Given the description of an element on the screen output the (x, y) to click on. 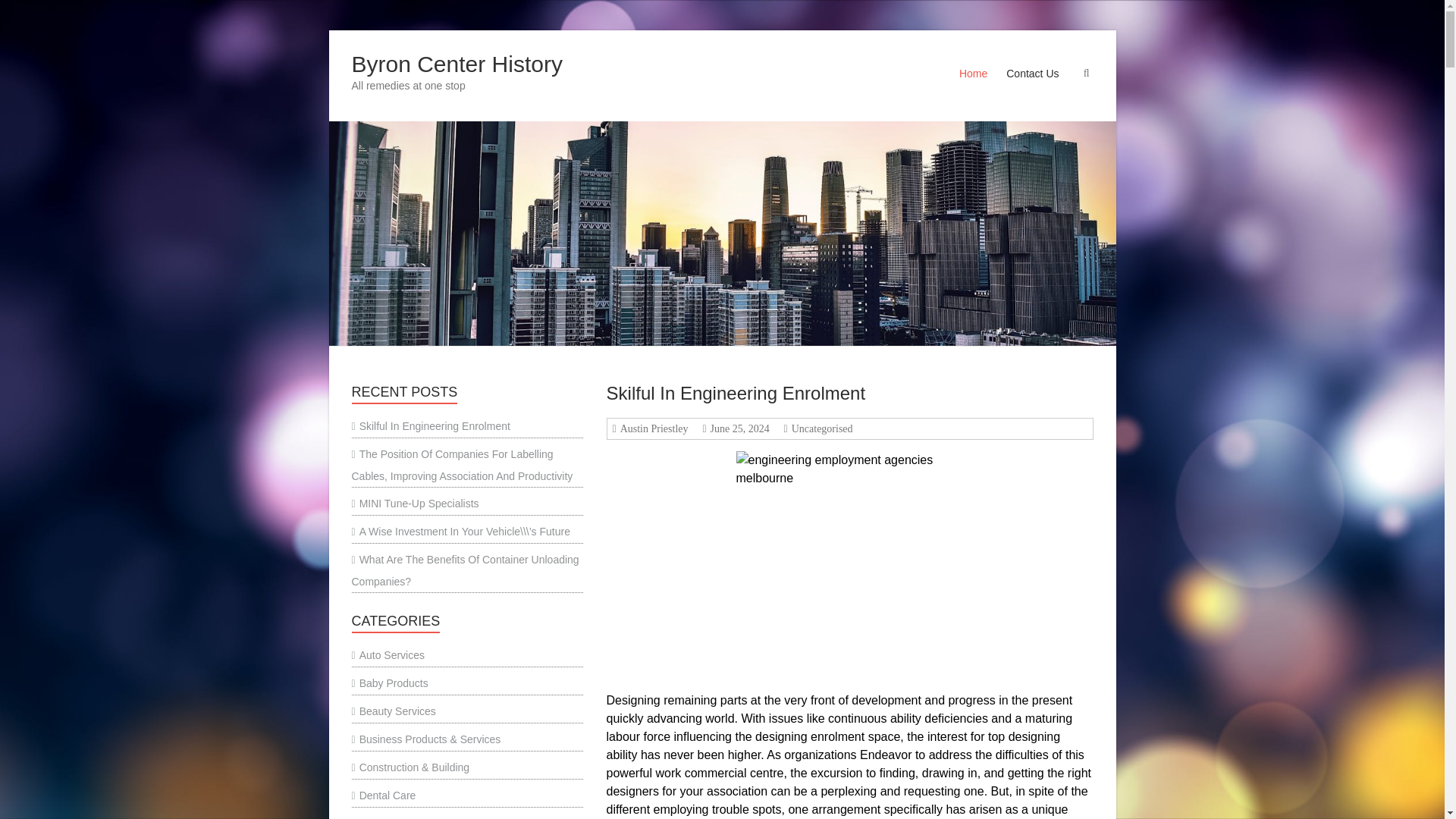
Austin Priestley (651, 428)
7:32 am (738, 428)
Skilful In Engineering Enrolment (736, 393)
Uncategorised (820, 428)
Skilful In Engineering Enrolment (736, 393)
Byron Center History (457, 63)
 engineering employment agencies melbourne (849, 564)
Byron Center History (457, 63)
June 25, 2024 (738, 428)
